Given the description of an element on the screen output the (x, y) to click on. 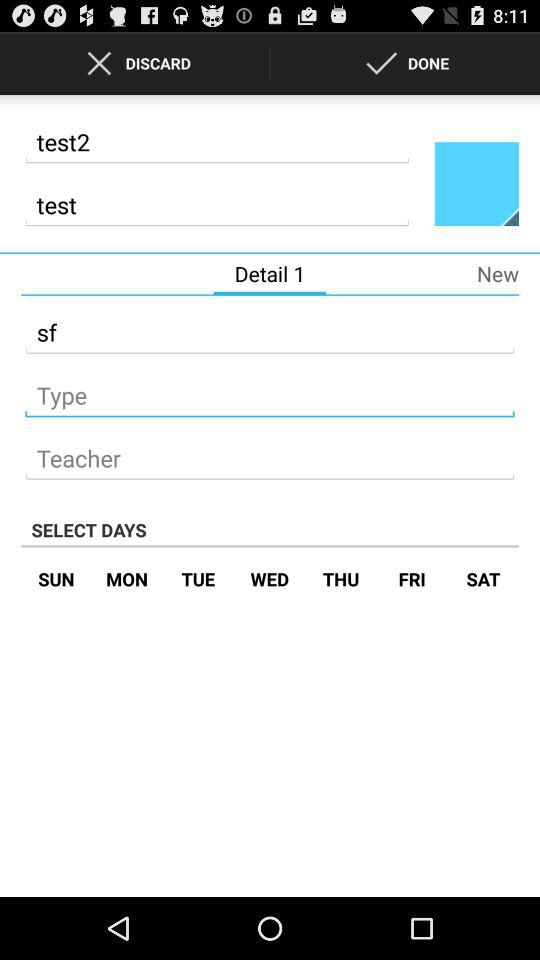
select color (477, 183)
